Given the description of an element on the screen output the (x, y) to click on. 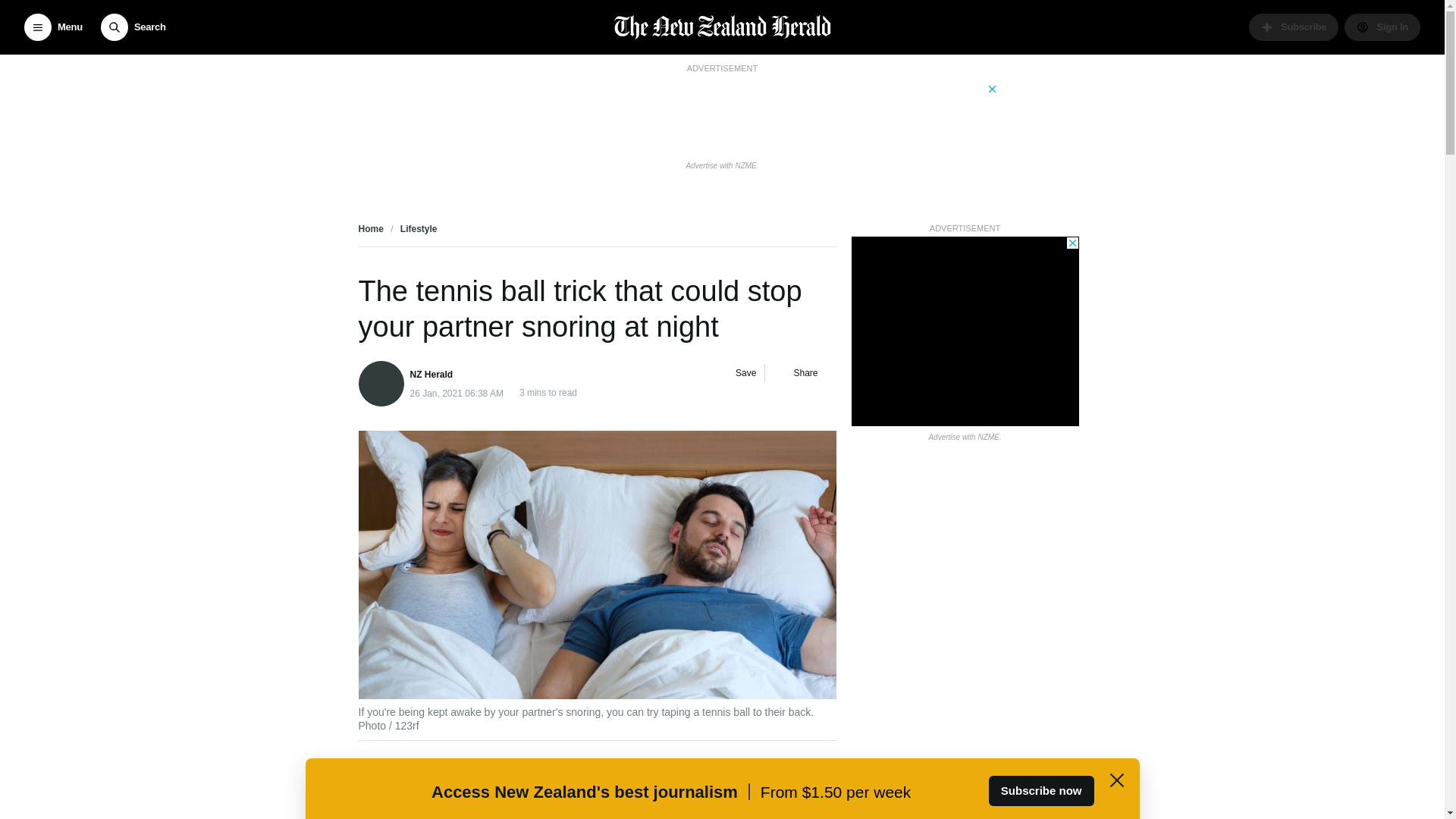
Menu (53, 26)
Sign In (1382, 26)
Subscribe (1294, 26)
Search (132, 26)
Manage your account (1382, 26)
3rd party ad content (721, 115)
3rd party ad content (964, 330)
